Given the description of an element on the screen output the (x, y) to click on. 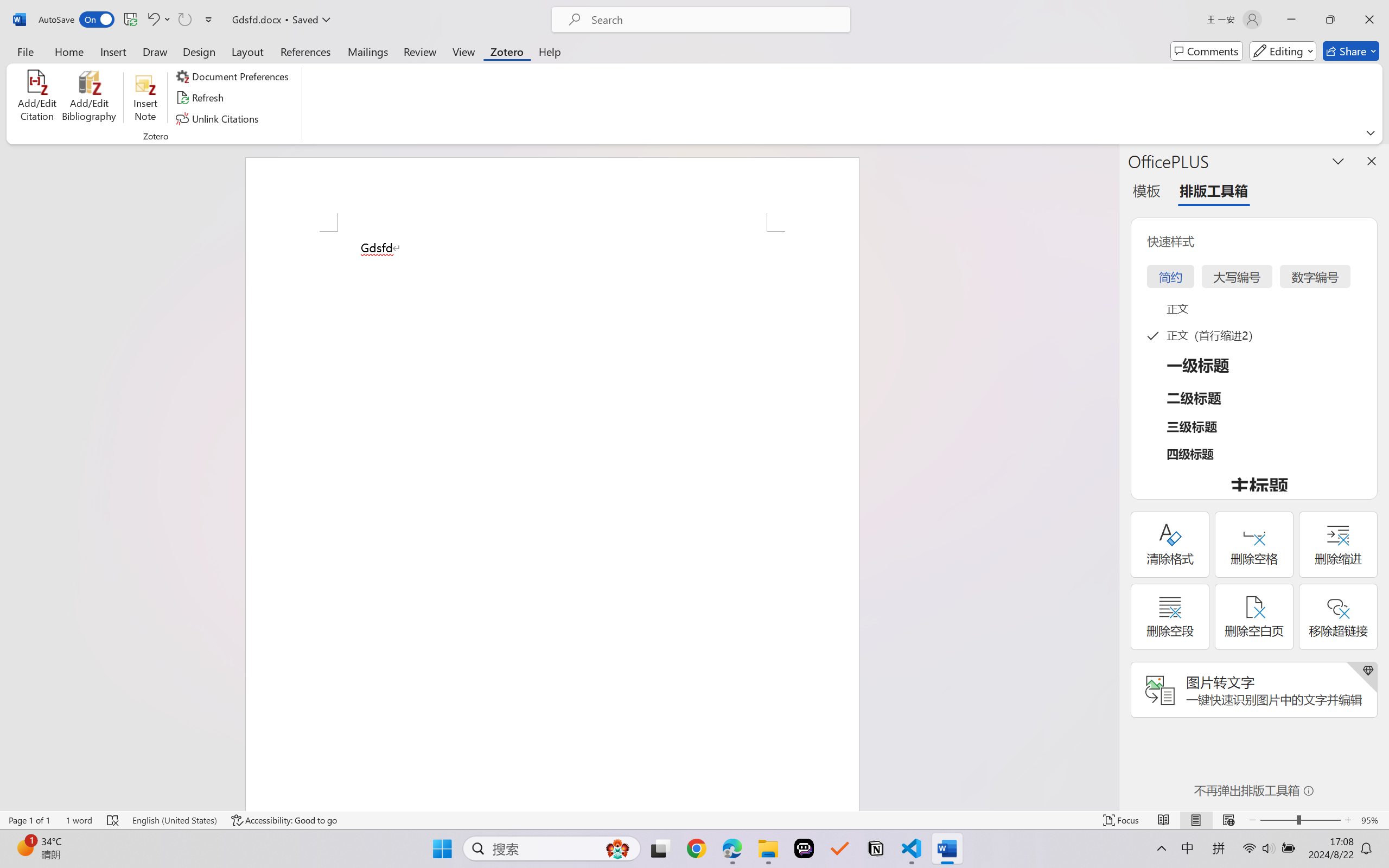
Can't Repeat (184, 19)
Document Preferences (233, 75)
Refresh (201, 97)
